Given the description of an element on the screen output the (x, y) to click on. 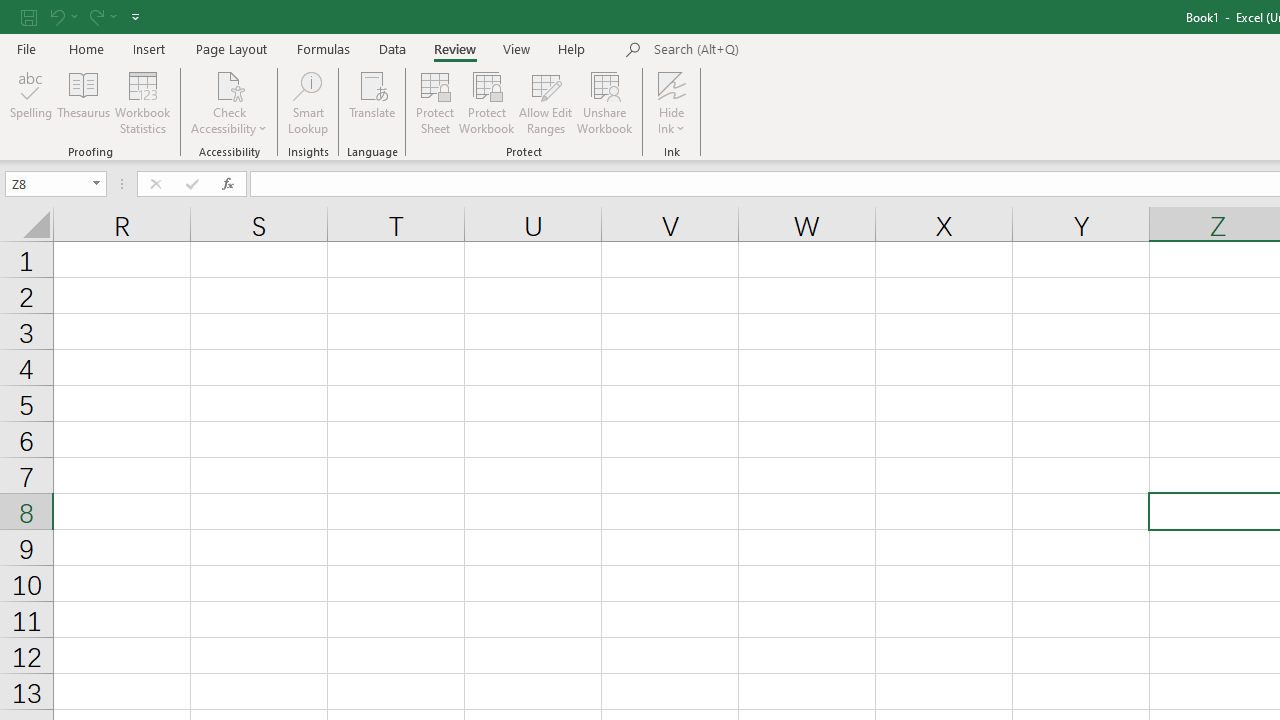
Save (29, 15)
Workbook Statistics (142, 102)
Check Accessibility (229, 84)
Customize Quick Access Toolbar (135, 15)
Smart Lookup (308, 102)
Quick Access Toolbar (82, 16)
Hide Ink (671, 84)
Data (392, 48)
Home (86, 48)
